Given the description of an element on the screen output the (x, y) to click on. 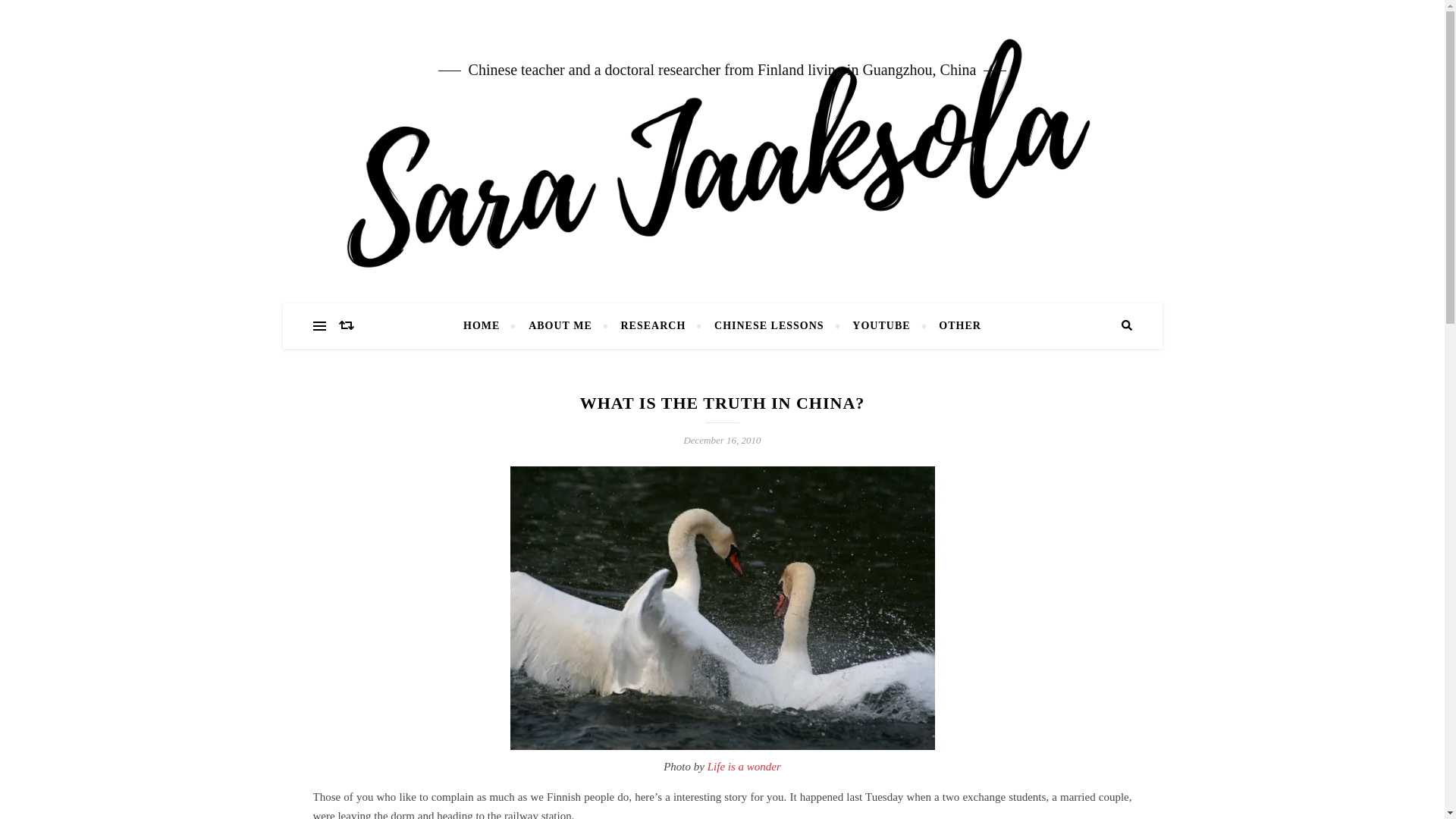
CHINESE LESSONS (769, 325)
YOUTUBE (881, 325)
ABOUT ME (560, 325)
Life is a wonder (743, 766)
Truth in China (721, 608)
OTHER (953, 325)
HOME (487, 325)
RESEARCH (653, 325)
